Given the description of an element on the screen output the (x, y) to click on. 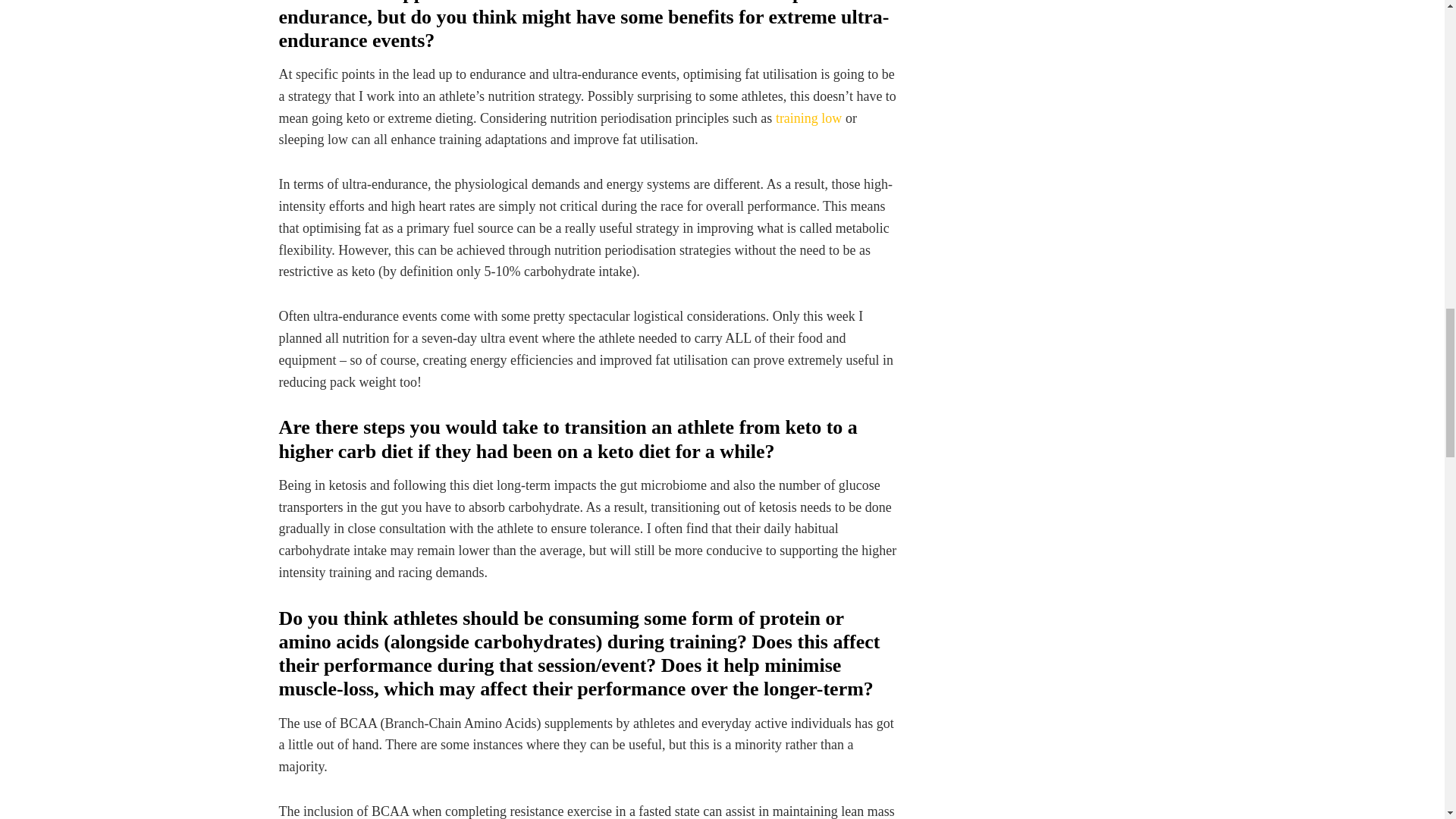
training low (809, 118)
